Given the description of an element on the screen output the (x, y) to click on. 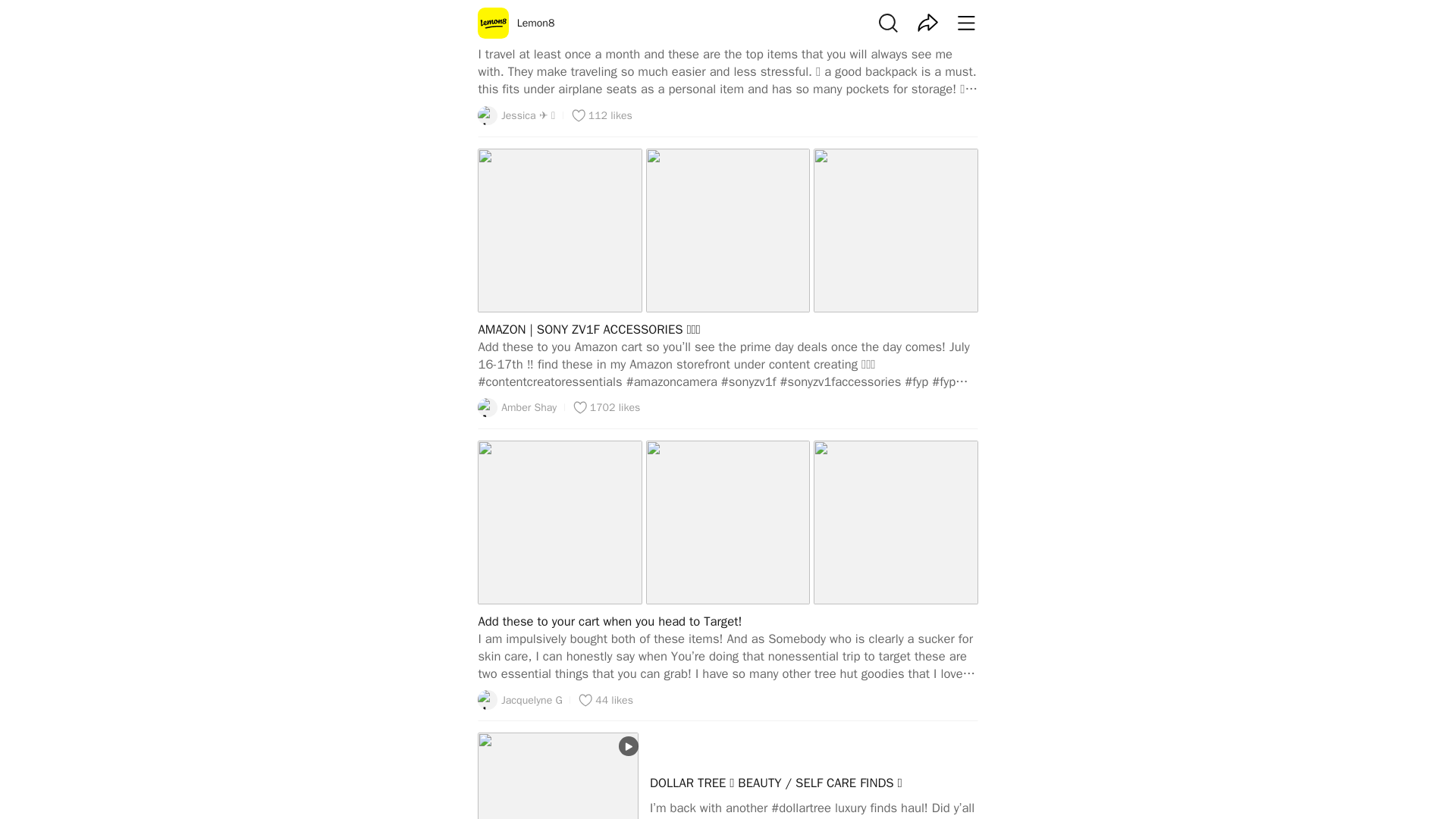
Jacquelyne G (519, 700)
Amber Shay (516, 407)
